Given the description of an element on the screen output the (x, y) to click on. 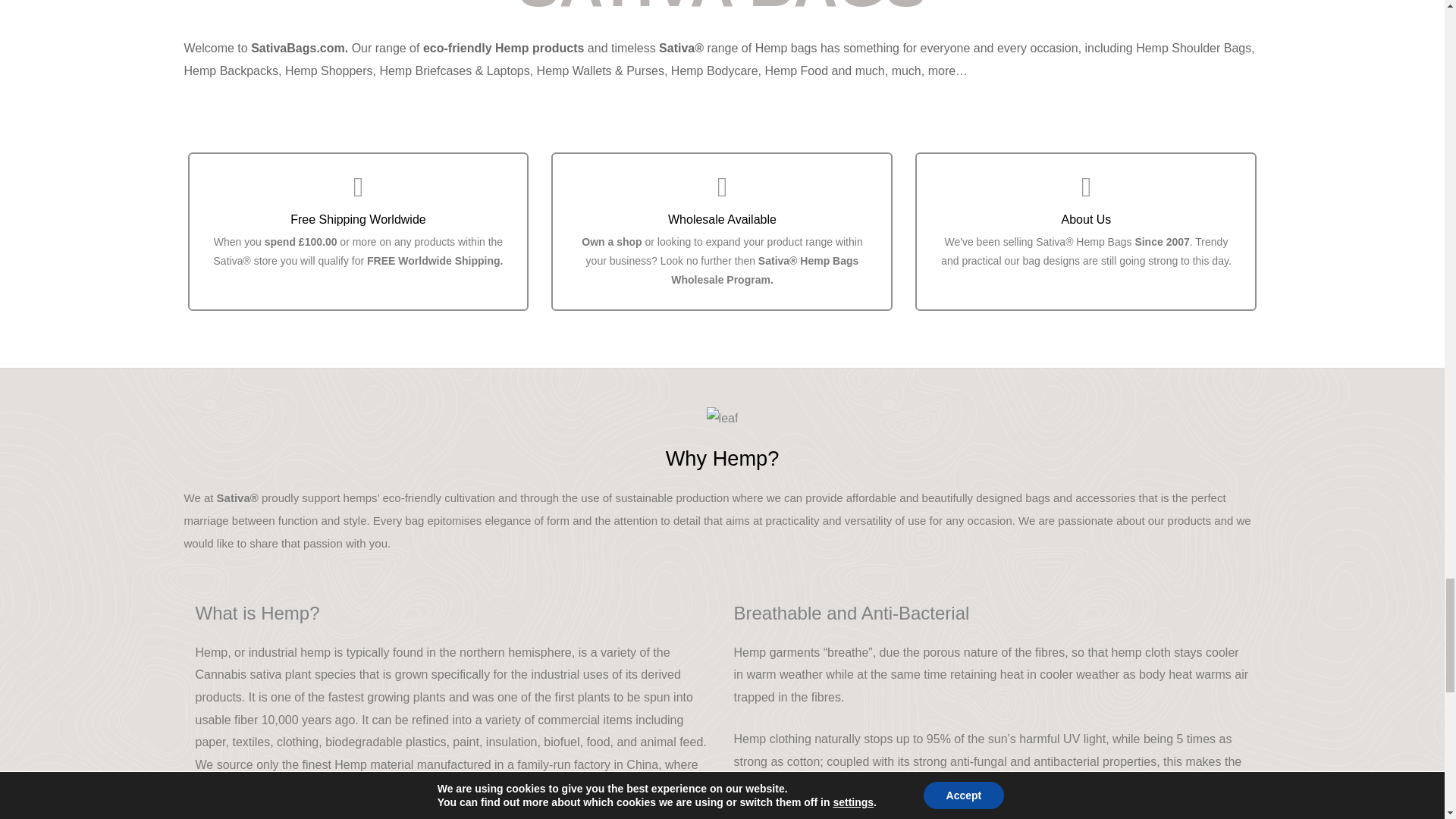
leaf (722, 418)
